Given the description of an element on the screen output the (x, y) to click on. 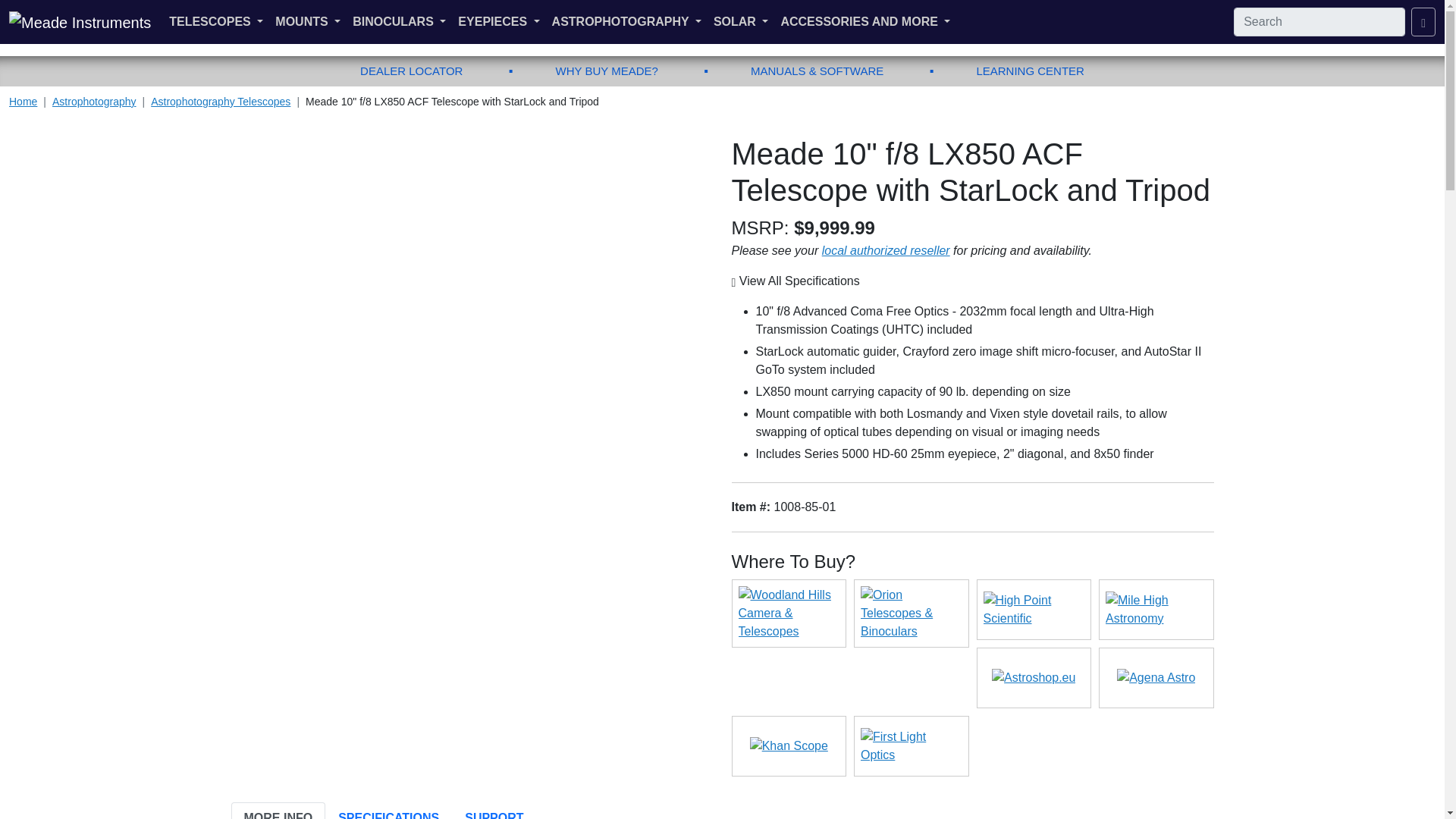
ACCESSORIES AND MORE (865, 22)
SOLAR (740, 22)
EYEPIECES (497, 22)
MOUNTS (307, 22)
TELESCOPES (216, 22)
BINOCULARS (398, 22)
ASTROPHOTOGRAPHY (626, 22)
